Given the description of an element on the screen output the (x, y) to click on. 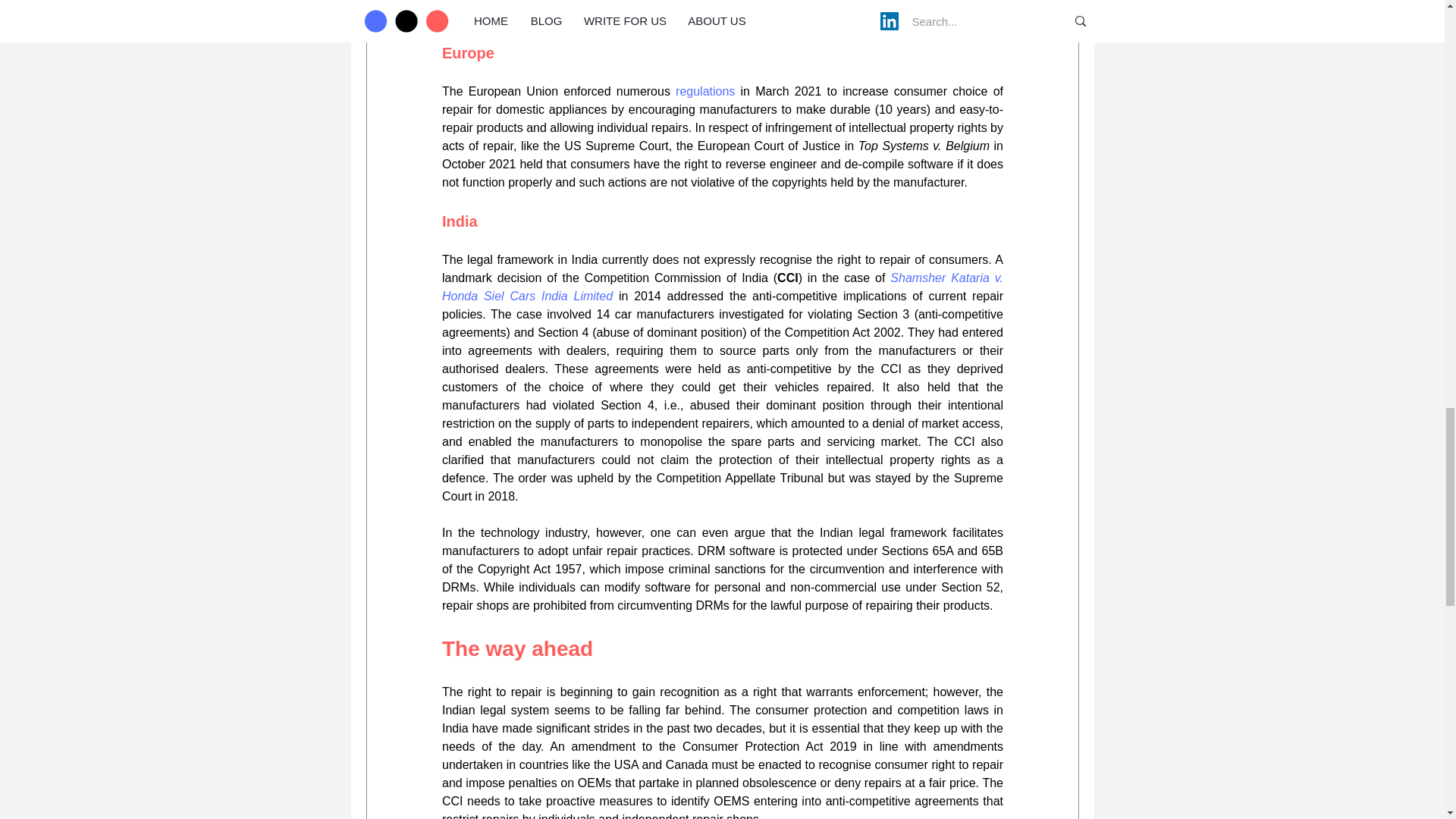
regulations (705, 91)
Shamsher Kataria v. Honda Siel Cars India Limited (723, 286)
